Given the description of an element on the screen output the (x, y) to click on. 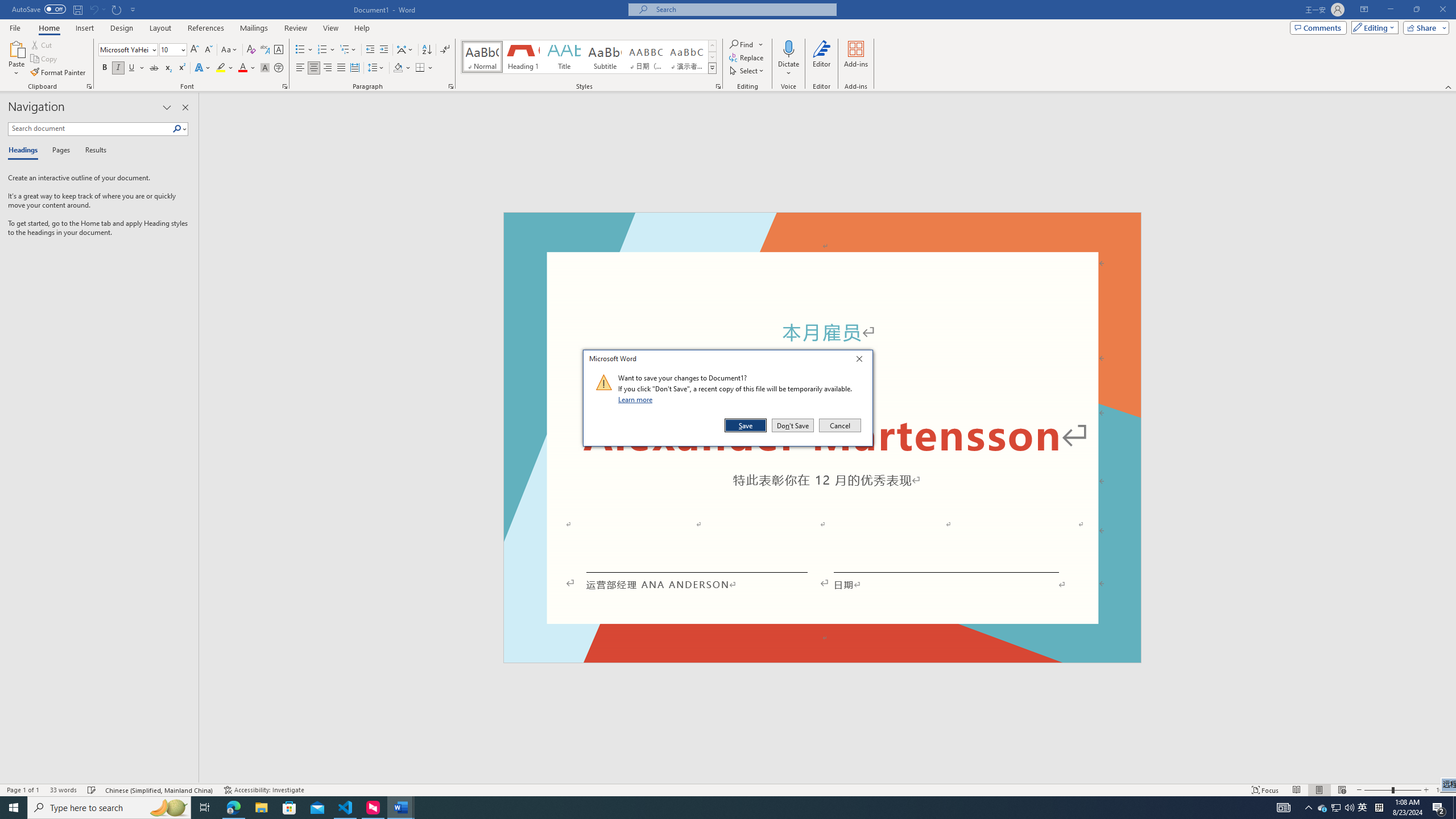
AutomationID: 4105 (1283, 807)
Repeat Subscript (117, 9)
Learn more (636, 399)
Phonetic Guide... (264, 49)
Word - 2 running windows (400, 807)
Align Right (327, 67)
Cancel (839, 425)
Copy (45, 58)
Visual Studio Code - 1 running window (345, 807)
